Given the description of an element on the screen output the (x, y) to click on. 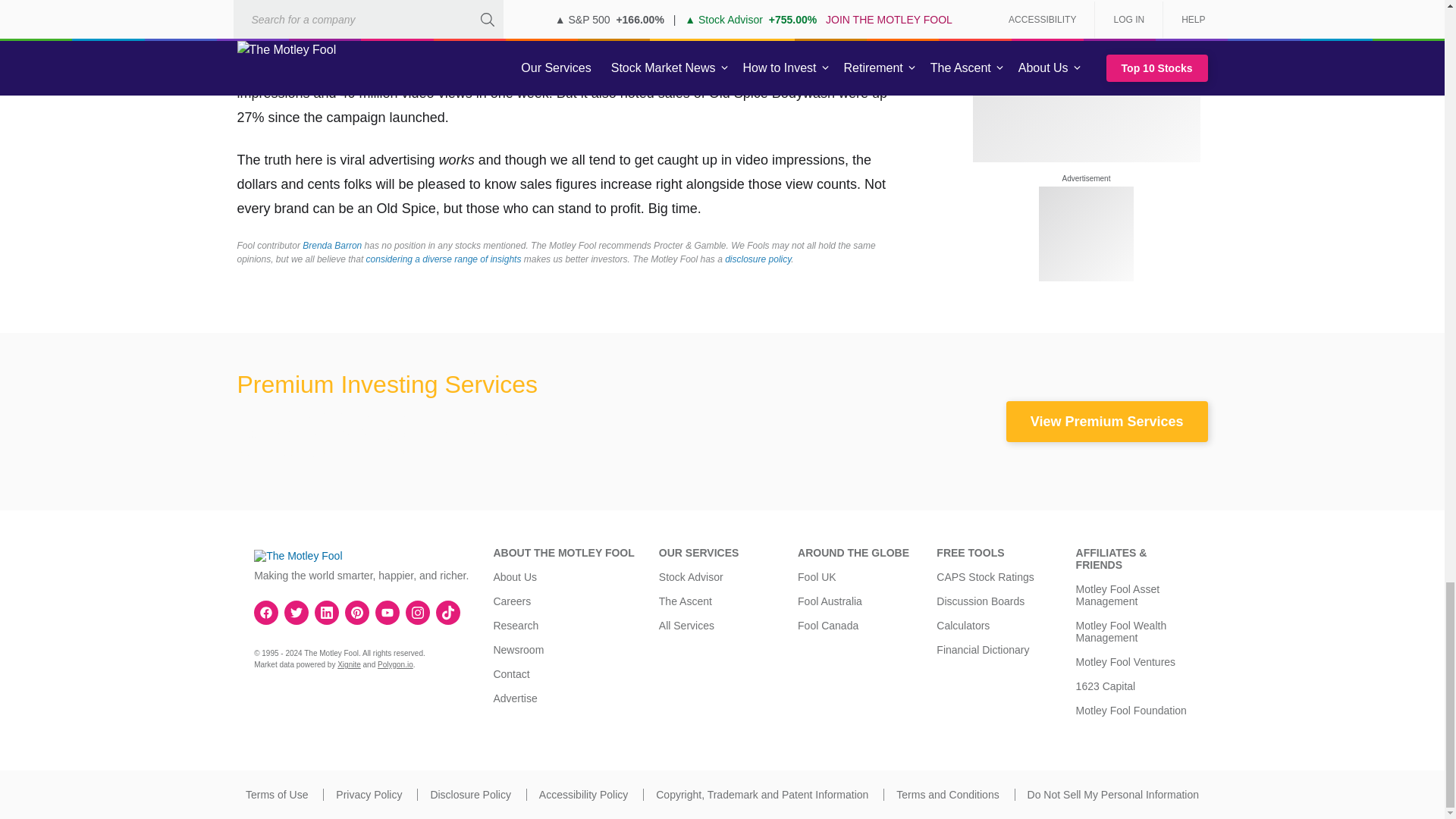
Terms of Use (276, 794)
Privacy Policy (368, 794)
Accessibility Policy (582, 794)
Terms and Conditions (947, 794)
Do Not Sell My Personal Information. (1112, 794)
Copyright, Trademark and Patent Information (761, 794)
Disclosure Policy (470, 794)
